Given the description of an element on the screen output the (x, y) to click on. 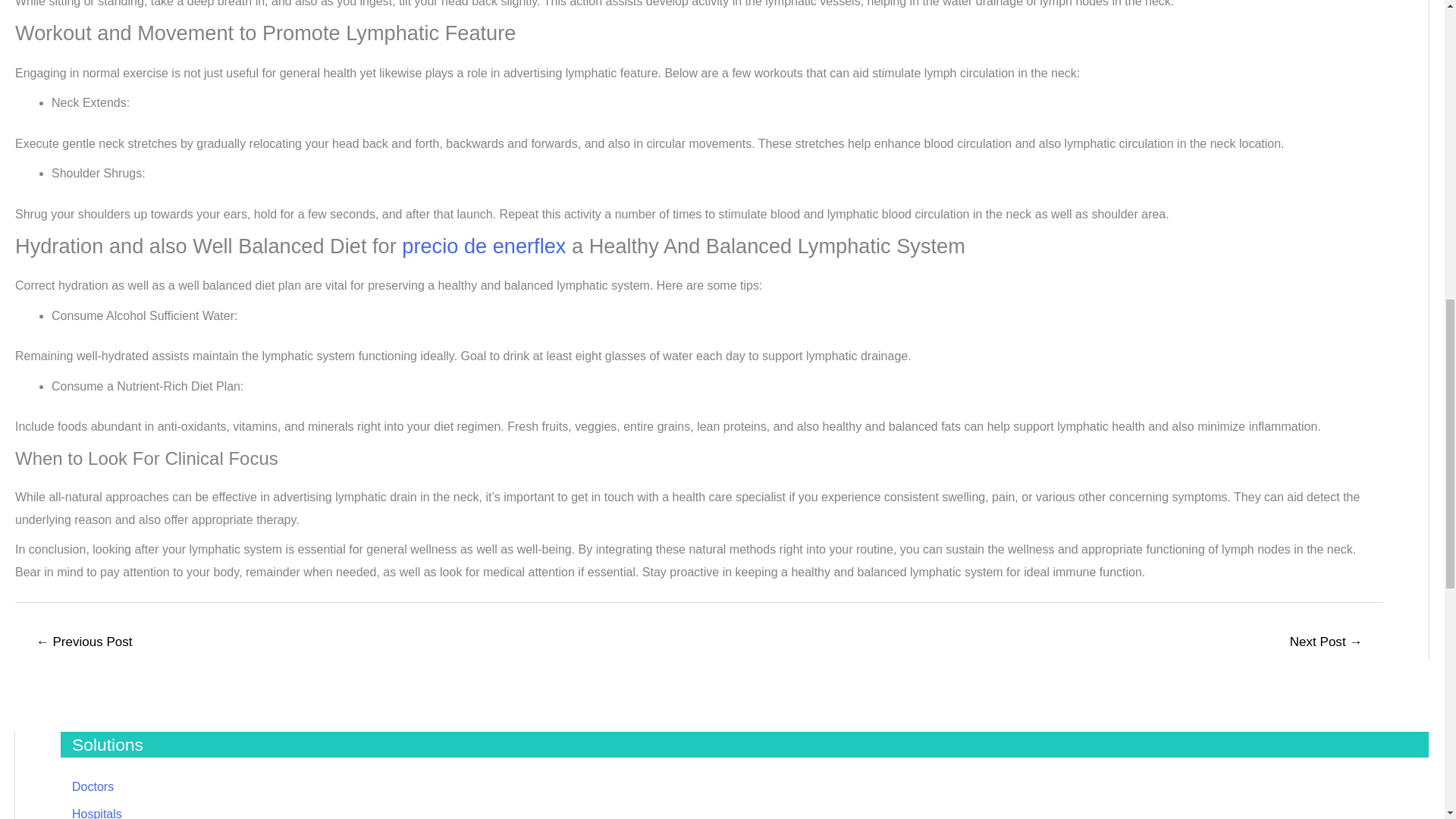
Hospitals (96, 813)
precio de enerflex (483, 245)
Doctors (92, 786)
